Given the description of an element on the screen output the (x, y) to click on. 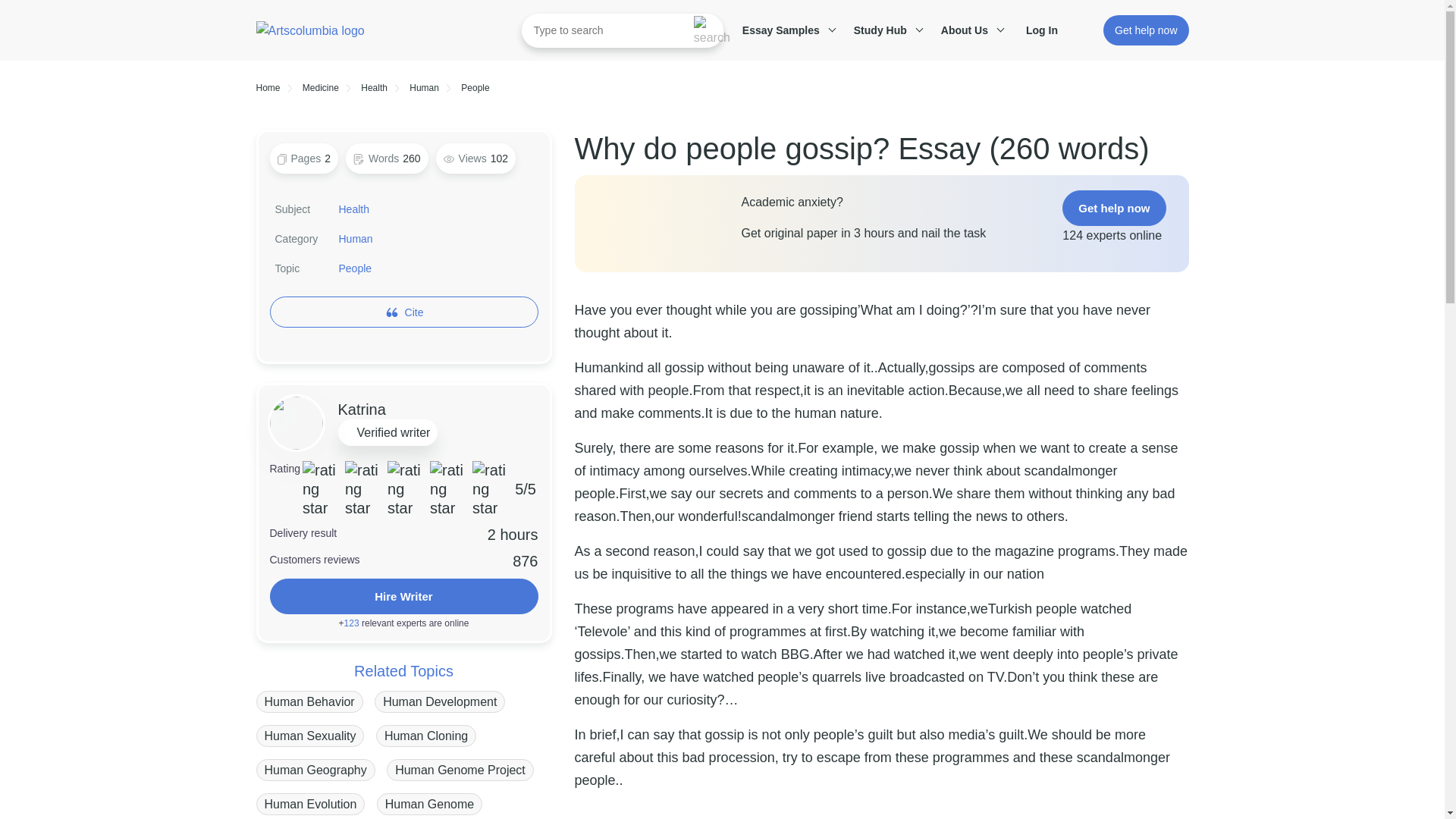
Medicine (320, 87)
Log In (1049, 30)
People (475, 87)
Cite (413, 312)
Study Hub (886, 30)
Health (353, 209)
Human (424, 87)
About Us (970, 30)
Home (268, 87)
Essay Samples (786, 30)
Health (374, 87)
